Given the description of an element on the screen output the (x, y) to click on. 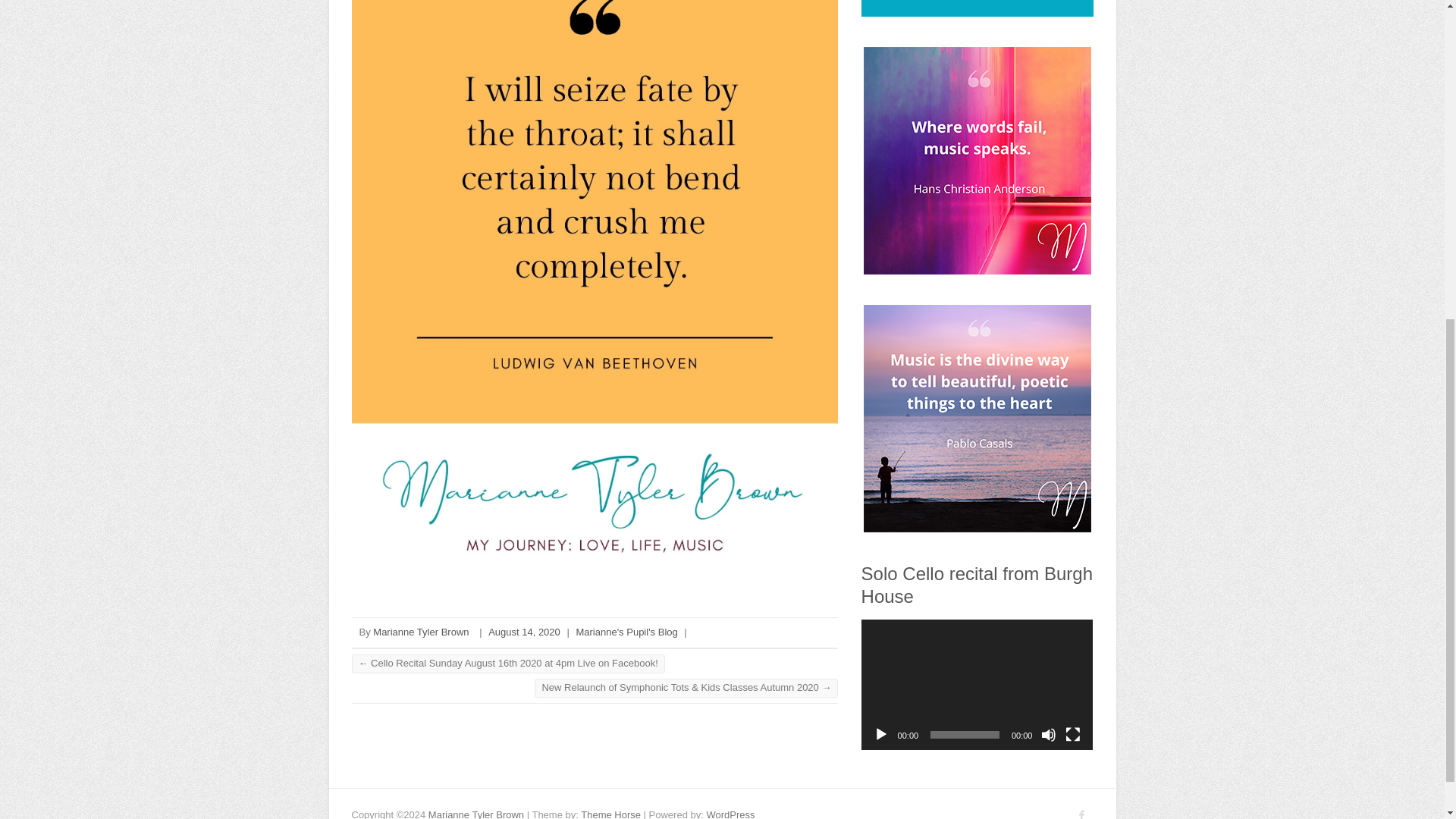
Mute (1049, 734)
Fullscreen (1072, 734)
Play (880, 734)
Marianne Tyler Brown (420, 632)
Marianne's Pupil's Blog (626, 632)
August 14, 2020 (523, 632)
10:24 am (523, 632)
